Given the description of an element on the screen output the (x, y) to click on. 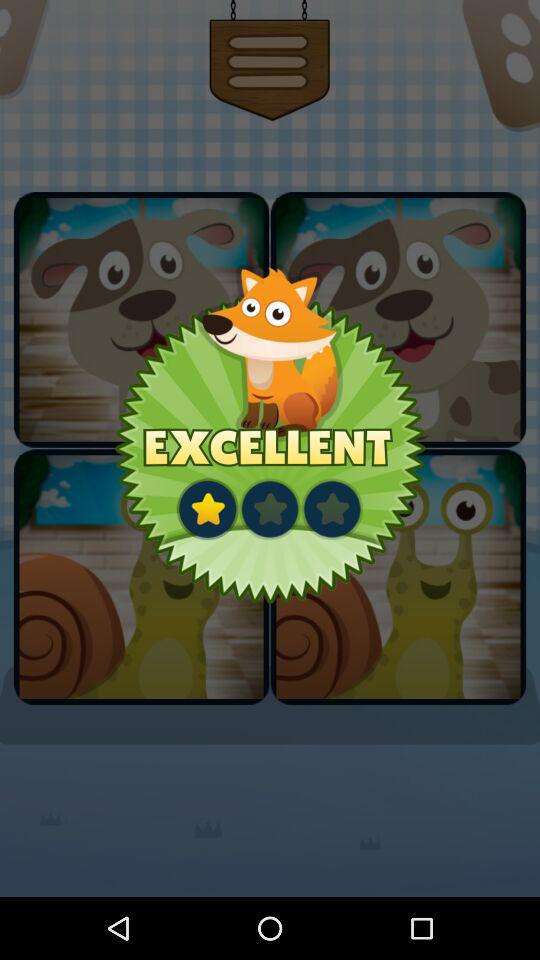
select the last star below excellent (331, 508)
